Given the description of an element on the screen output the (x, y) to click on. 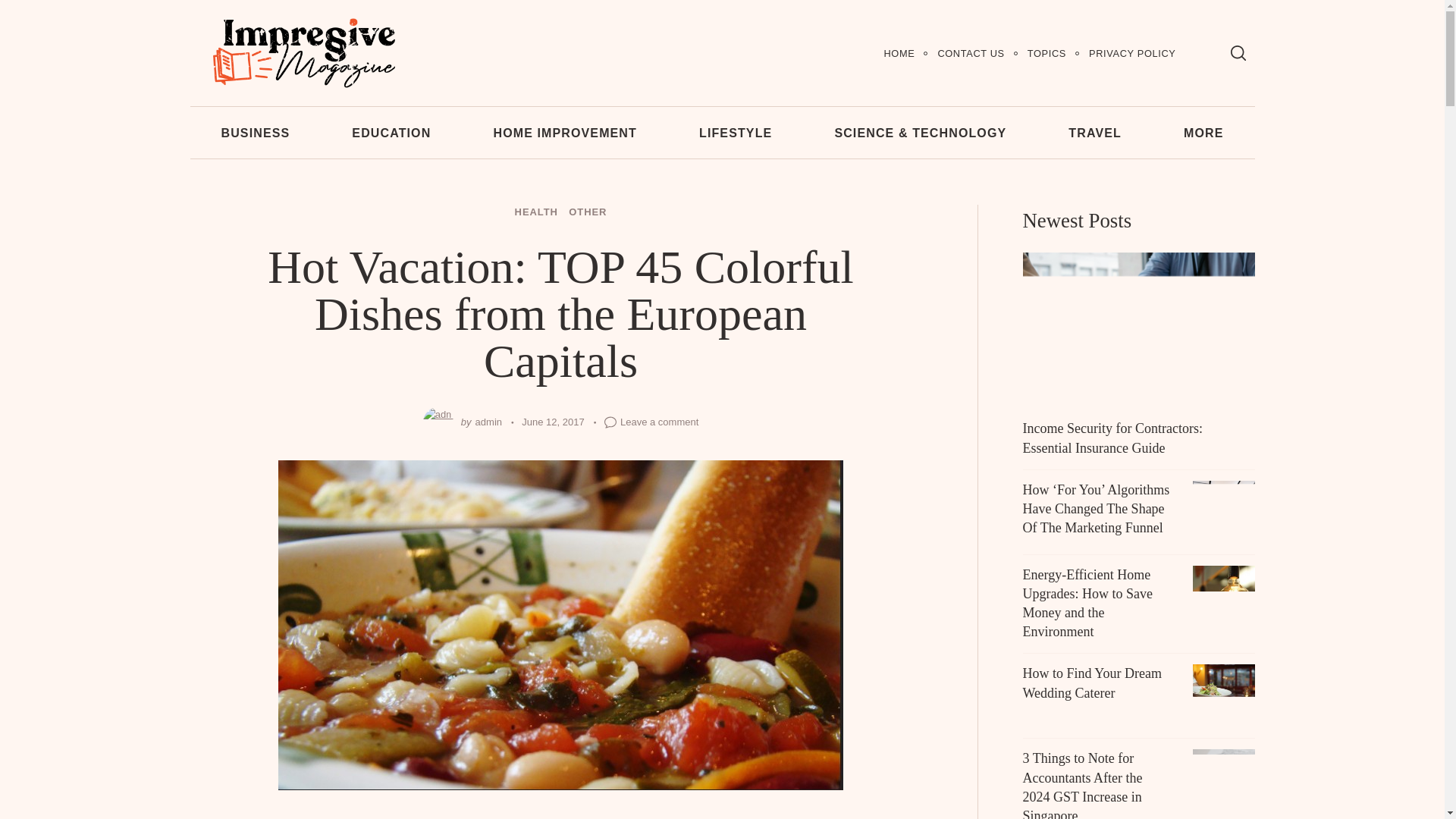
HEALTH (536, 212)
MORE (1204, 132)
TRAVEL (1094, 132)
OTHER (588, 212)
LIFESTYLE (735, 132)
EDUCATION (390, 132)
PRIVACY POLICY (1131, 52)
Leave a comment (659, 421)
HOME IMPROVEMENT (564, 132)
BUSINESS (254, 132)
